Given the description of an element on the screen output the (x, y) to click on. 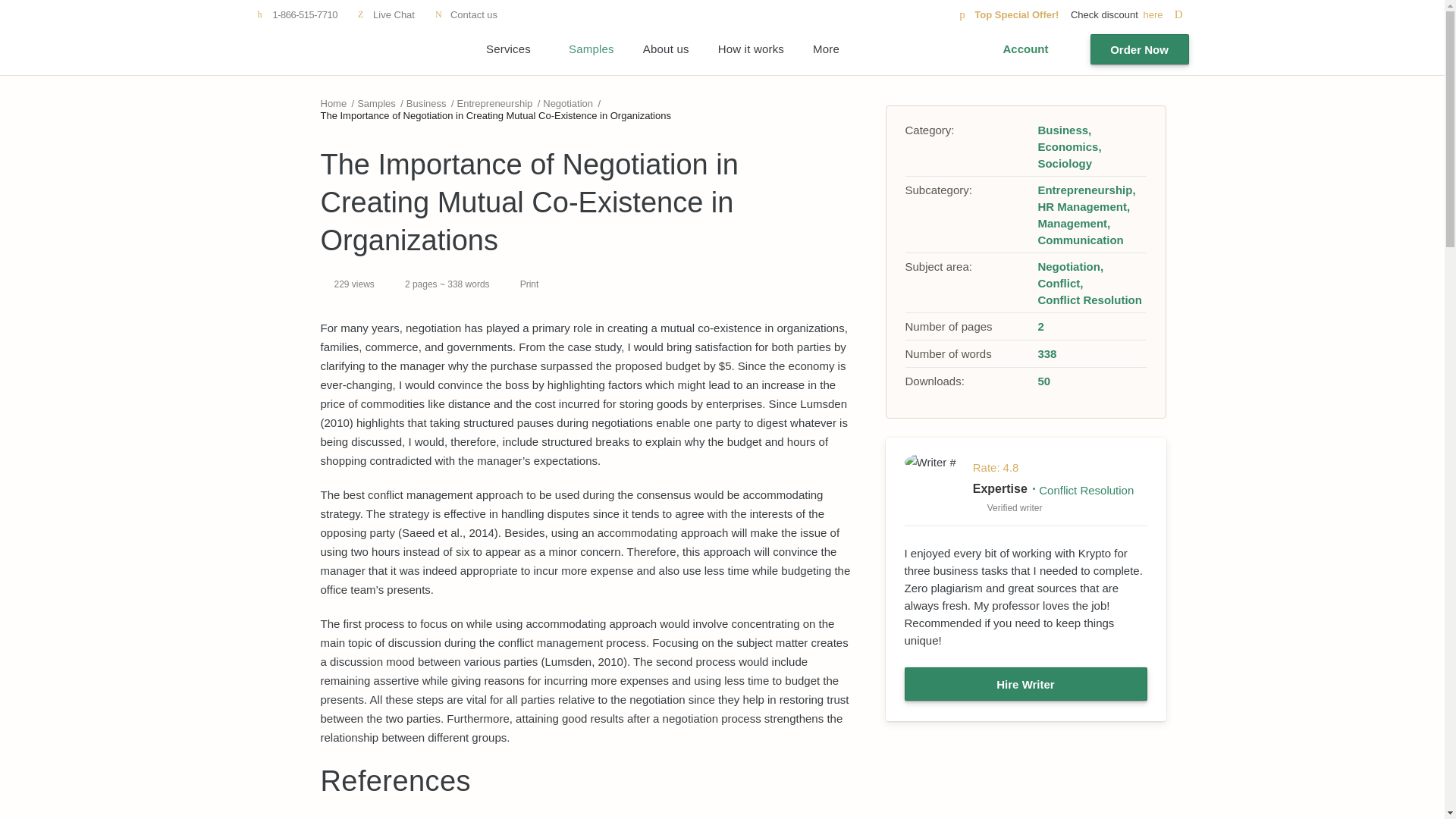
Samples (376, 102)
Business (426, 102)
Contact us (465, 14)
About us (665, 49)
here (1165, 14)
Live Chat (385, 14)
How it works (750, 49)
Samples (591, 49)
1-866-515-7710 (296, 14)
Order Now (1139, 49)
